Given the description of an element on the screen output the (x, y) to click on. 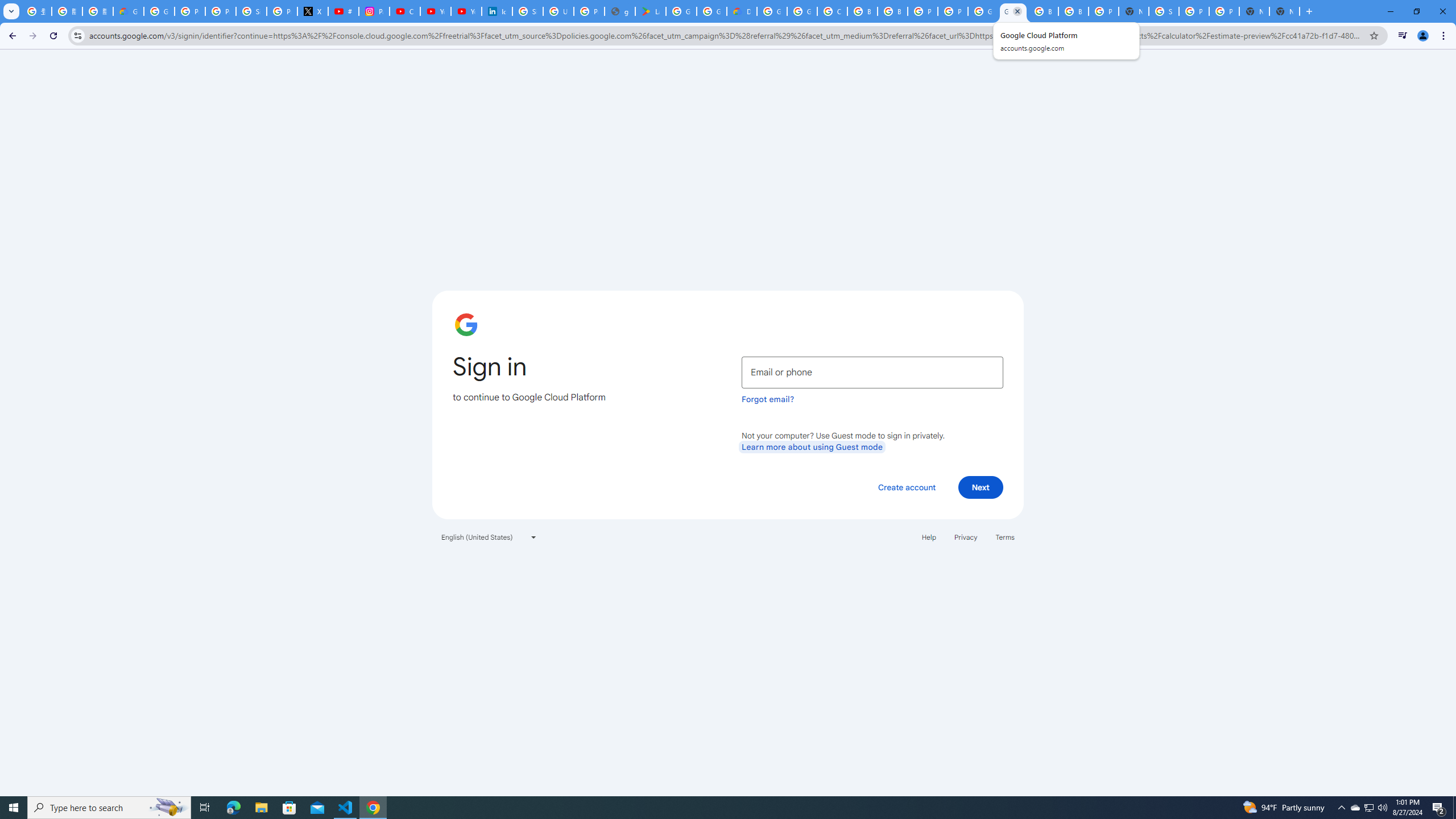
English (United States) (489, 536)
Create account (905, 486)
Browse Chrome as a guest - Computer - Google Chrome Help (892, 11)
